Given the description of an element on the screen output the (x, y) to click on. 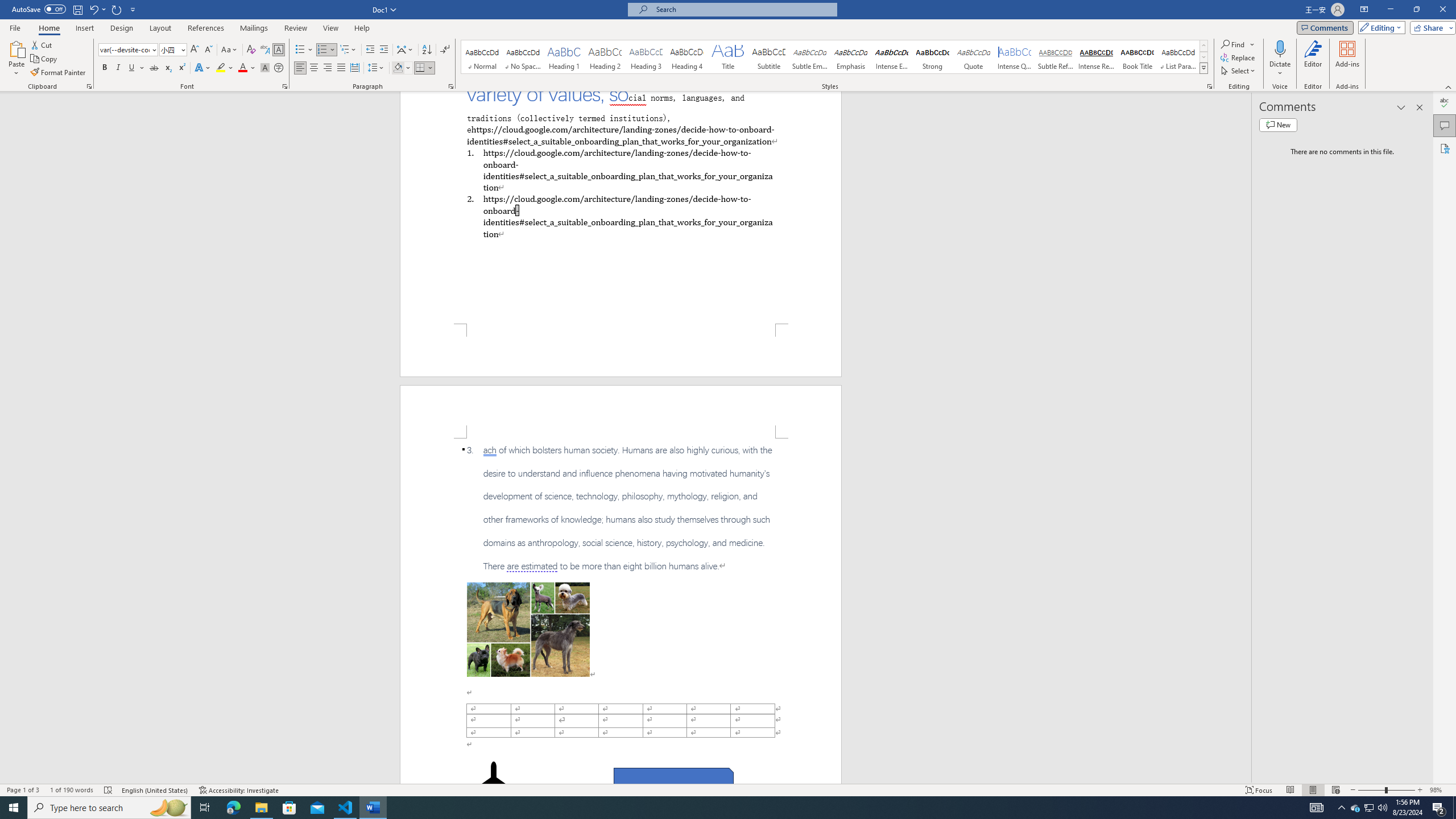
Editor (1444, 102)
Styles... (1209, 85)
Bold (104, 67)
Page 1 content (620, 207)
Microsoft search (742, 9)
Align Right (327, 67)
Heading 4 (686, 56)
Increase Indent (383, 49)
2. (620, 216)
